Given the description of an element on the screen output the (x, y) to click on. 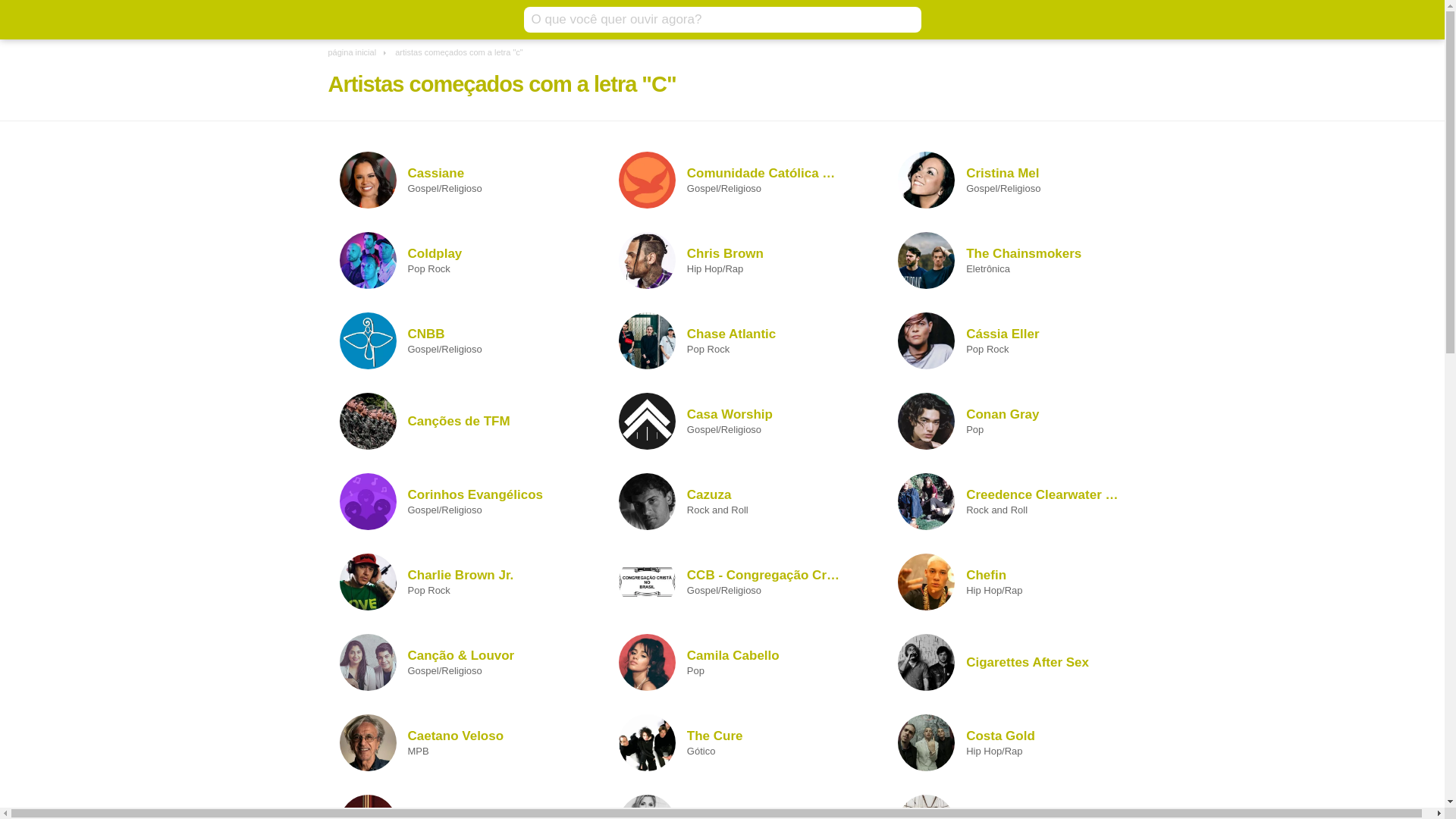
buscar Element type: text (905, 19)
Costa Gold
Hip Hop/Rap Element type: text (1016, 742)
menu Element type: text (338, 19)
Casa Worship
Gospel/Religioso Element type: text (737, 420)
Coldplay
Pop Rock Element type: text (457, 259)
Creedence Clearwater Revival
Rock and Roll Element type: text (1016, 501)
Chefin
Hip Hop/Rap Element type: text (1016, 581)
Cigarettes After Sex Element type: text (1016, 661)
Caetano Veloso
MPB Element type: text (457, 742)
Cazuza
Rock and Roll Element type: text (737, 501)
Charlie Brown Jr.
Pop Rock Element type: text (457, 581)
Chase Atlantic
Pop Rock Element type: text (737, 340)
Cristina Mel
Gospel/Religioso Element type: text (1016, 179)
Cassiane
Gospel/Religioso Element type: text (457, 179)
Chris Brown
Hip Hop/Rap Element type: text (737, 259)
Camila Cabello
Pop Element type: text (737, 661)
Conan Gray
Pop Element type: text (1016, 420)
CNBB
Gospel/Religioso Element type: text (457, 340)
